Given the description of an element on the screen output the (x, y) to click on. 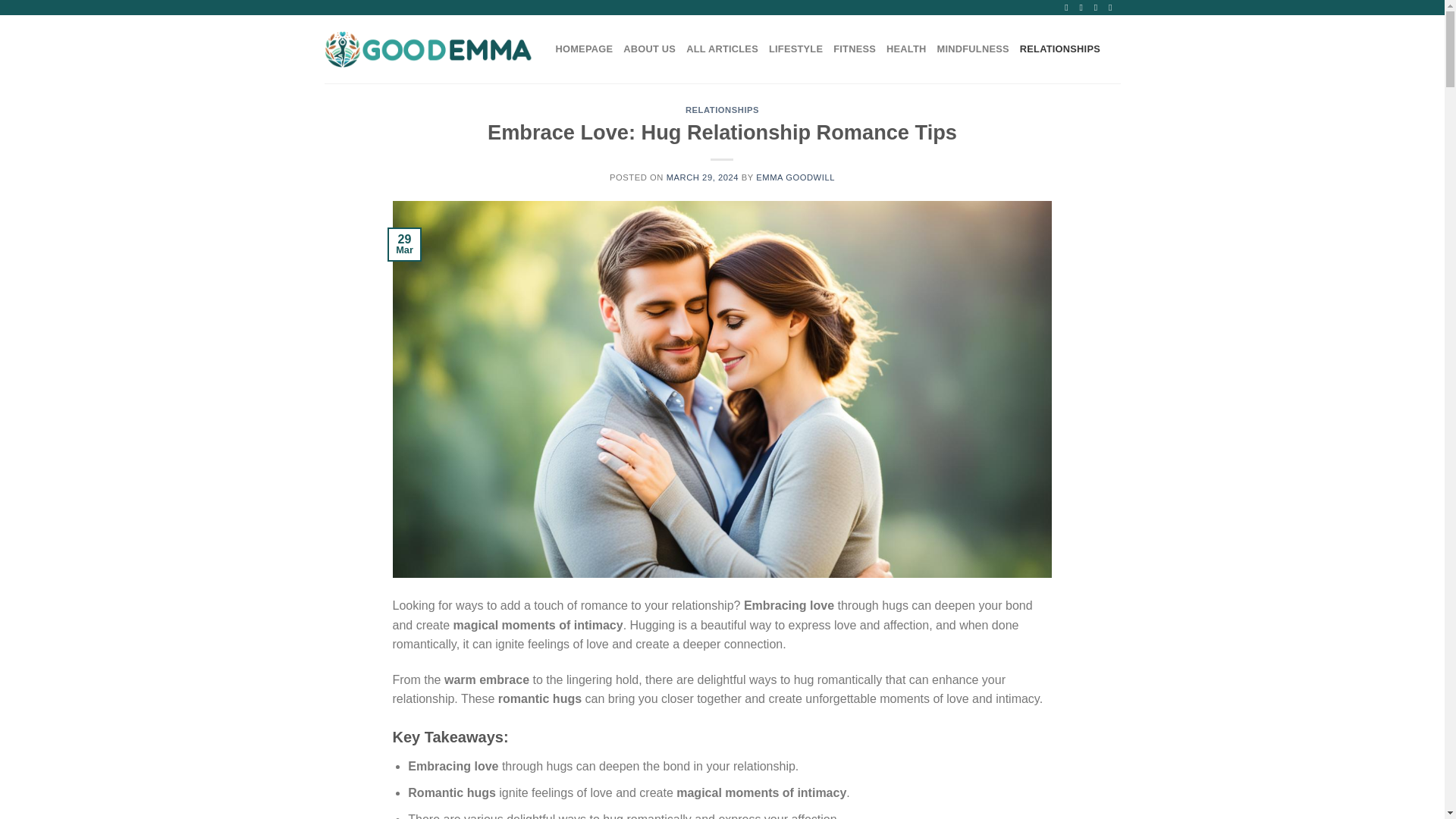
ALL ARTICLES (721, 49)
ABOUT US (649, 49)
HOMEPAGE (583, 49)
HEALTH (906, 49)
MARCH 29, 2024 (702, 176)
LIFESTYLE (795, 49)
RELATIONSHIPS (1060, 49)
FITNESS (854, 49)
EMMA GOODWILL (794, 176)
RELATIONSHIPS (721, 109)
MINDFULNESS (973, 49)
